Given the description of an element on the screen output the (x, y) to click on. 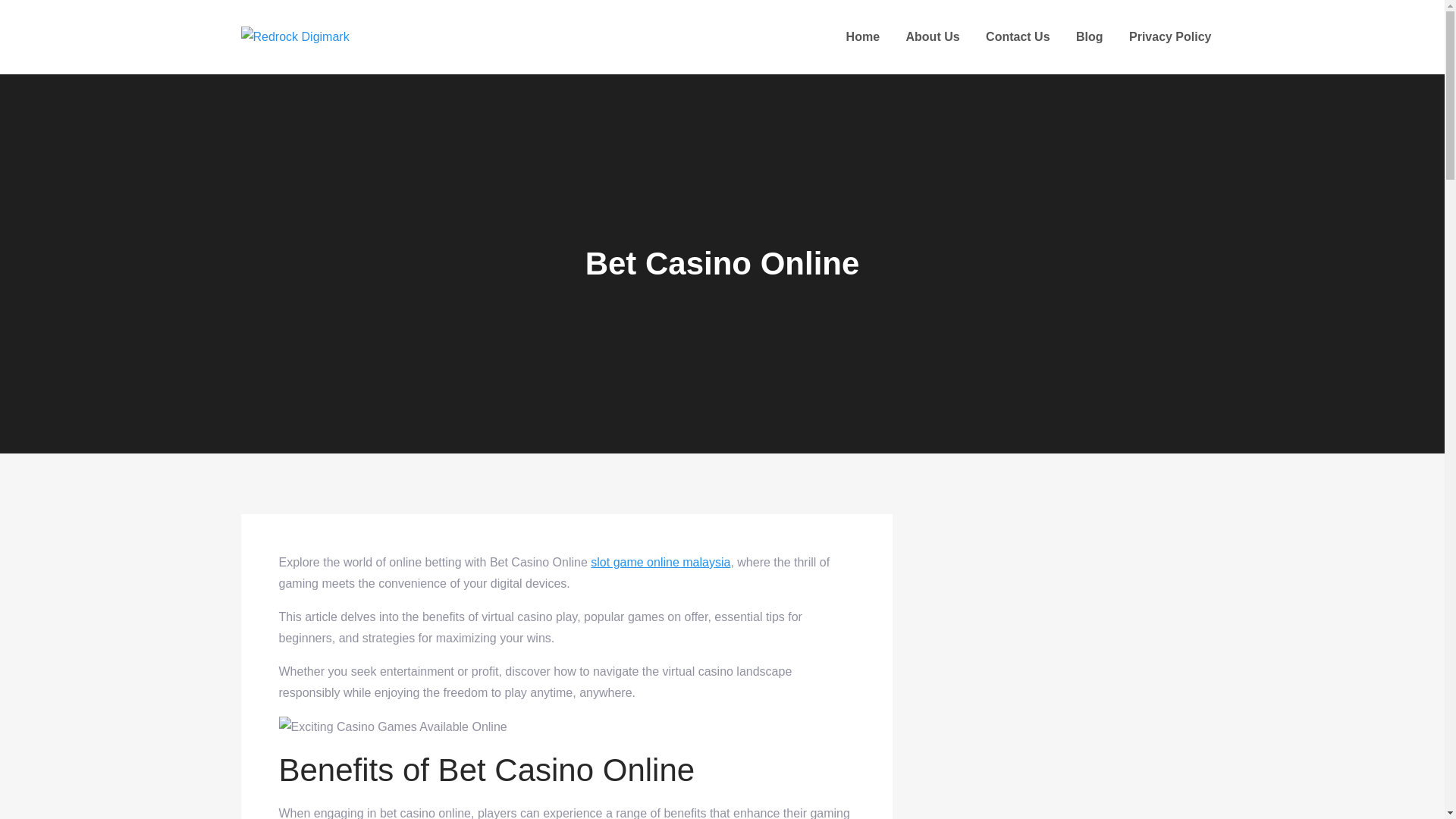
About Us (932, 36)
Redrock Digimark (466, 52)
Privacy Policy (1170, 36)
Contact Us (1017, 36)
slot game online malaysia (660, 562)
Home (862, 36)
Blog (1089, 36)
